Given the description of an element on the screen output the (x, y) to click on. 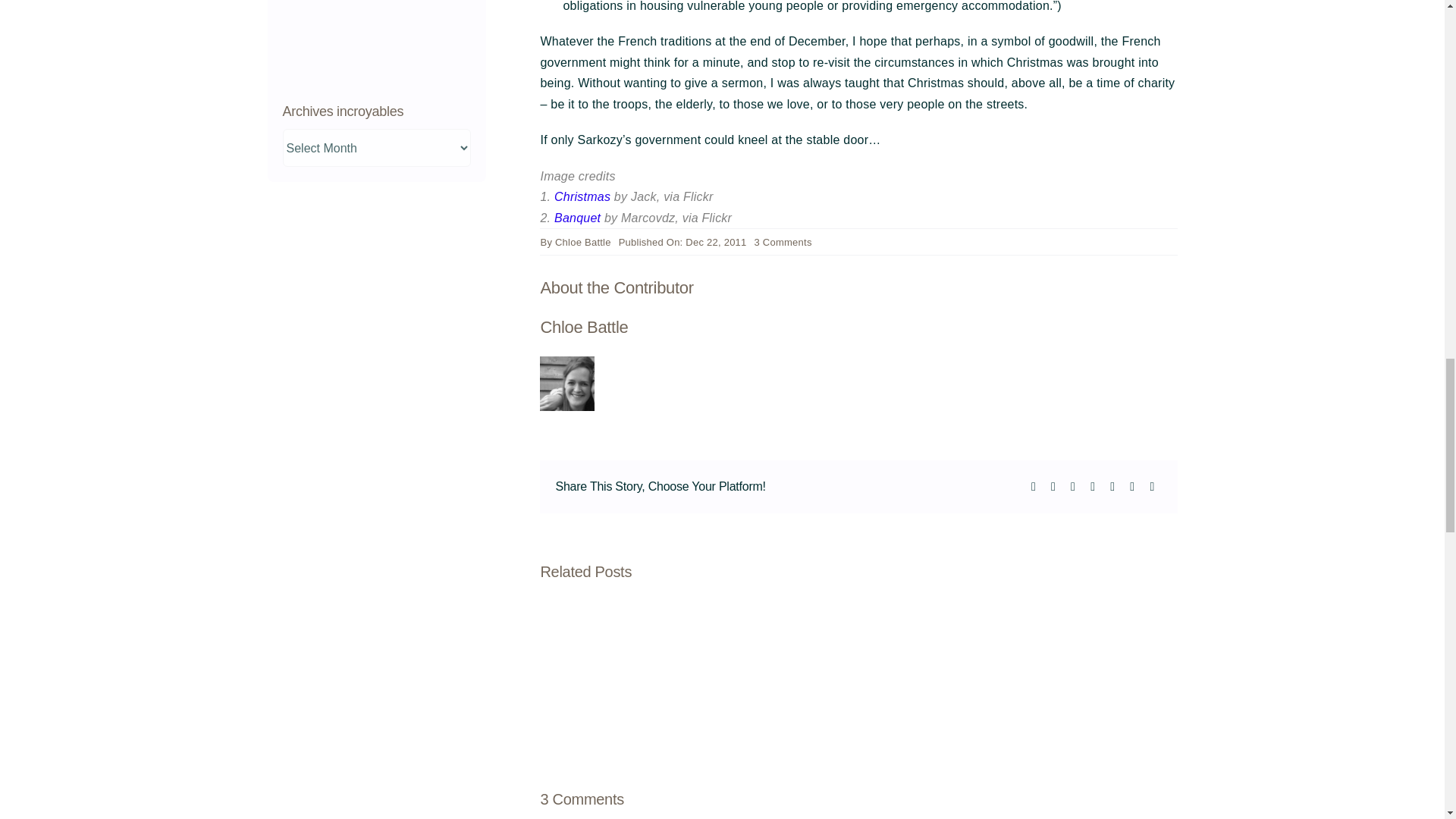
Posts by Chloe Battle (582, 242)
Banquet (783, 242)
Christmas (576, 217)
Chloe Battle (582, 196)
